Given the description of an element on the screen output the (x, y) to click on. 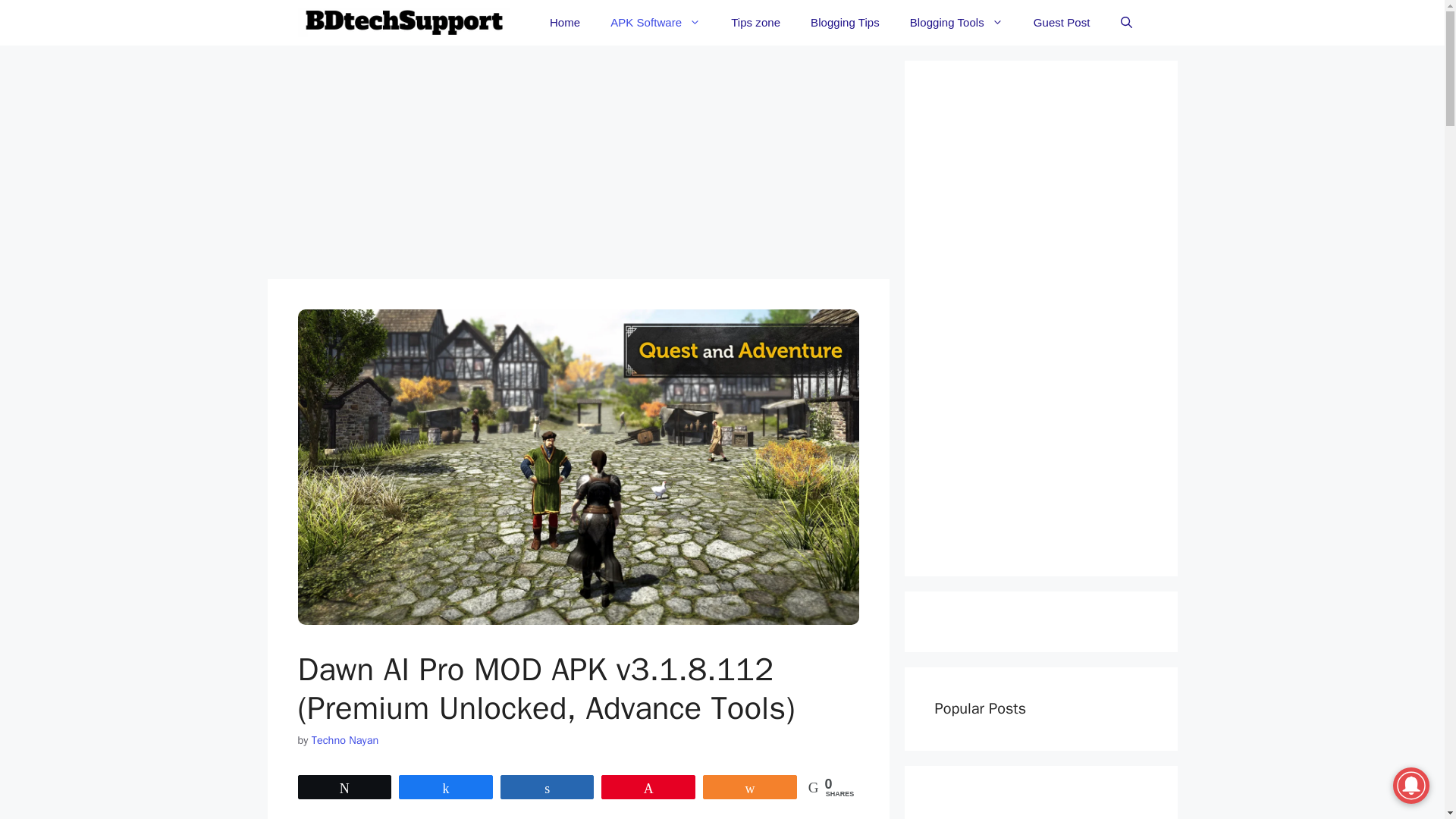
View all posts by Techno Nayan (344, 739)
Tips zone (755, 22)
Blogging Tips (844, 22)
Guest Post (1061, 22)
Blogging Tools (956, 22)
Home (564, 22)
Techno Nayan (344, 739)
Advertisement (577, 166)
APK Software (655, 22)
